Given the description of an element on the screen output the (x, y) to click on. 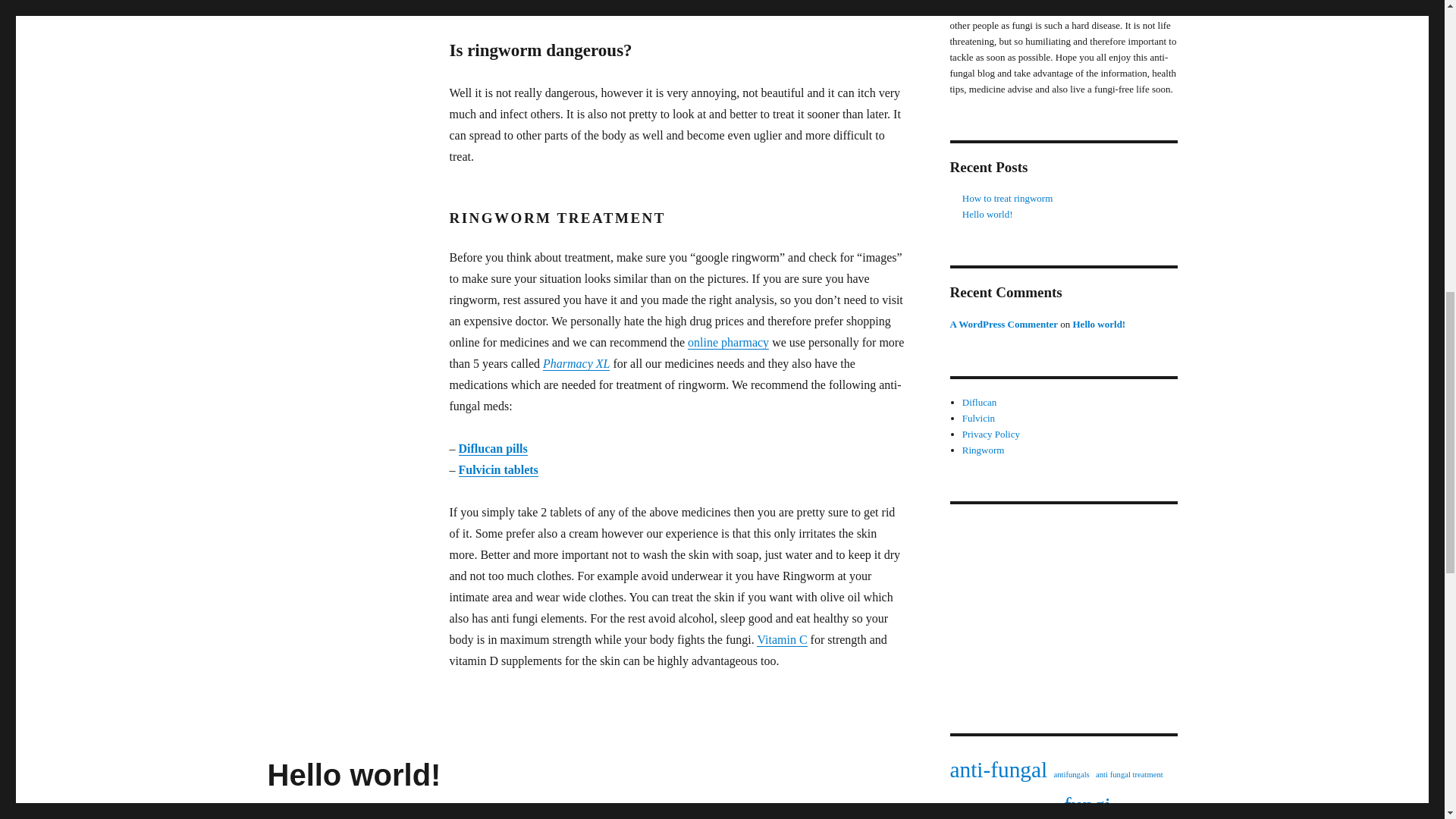
Hello world! (353, 774)
Vitamin C (781, 639)
Fulvicin tablets (497, 469)
online pharmacy (727, 341)
Diflucan pills (492, 448)
Pharmacy XL (576, 363)
